Given the description of an element on the screen output the (x, y) to click on. 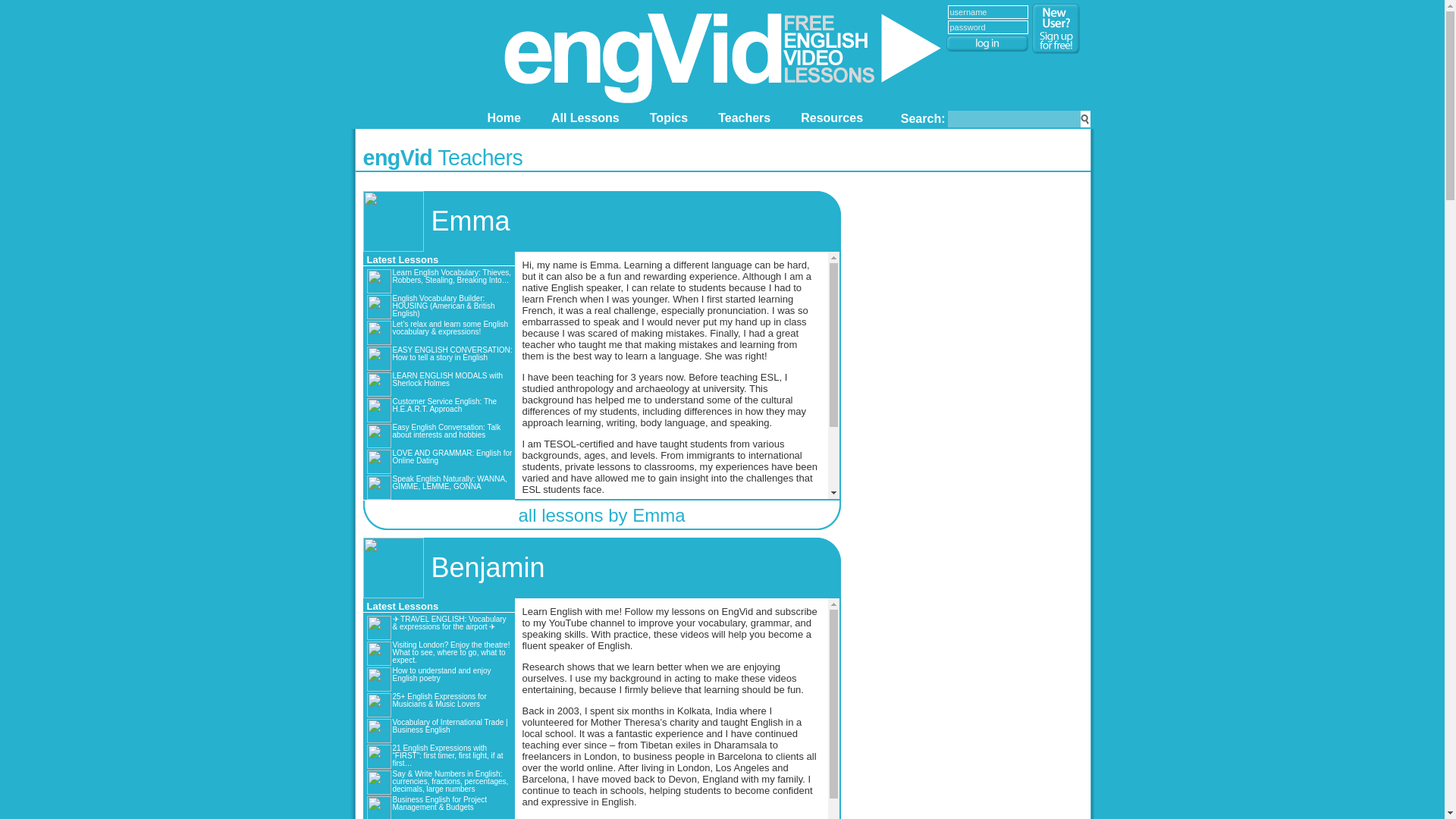
All Lessons (585, 117)
Home (503, 117)
password (987, 27)
Customer Service English: The H.E.A.R.T. Approach (439, 410)
English Teachers (743, 117)
LEARN ENGLISH MODALS with Sherlock Holmes (439, 384)
EASY ENGLISH CONVERSATION: How to tell a story in English (439, 358)
LOVE AND GRAMMAR: English for Online Dating (439, 461)
Home (503, 117)
Teachers (743, 117)
Advertisement (965, 741)
English Resources (831, 117)
All English Lessons (585, 117)
Easy English Conversation: Talk about interests and hobbies (439, 435)
Topics (668, 117)
